Given the description of an element on the screen output the (x, y) to click on. 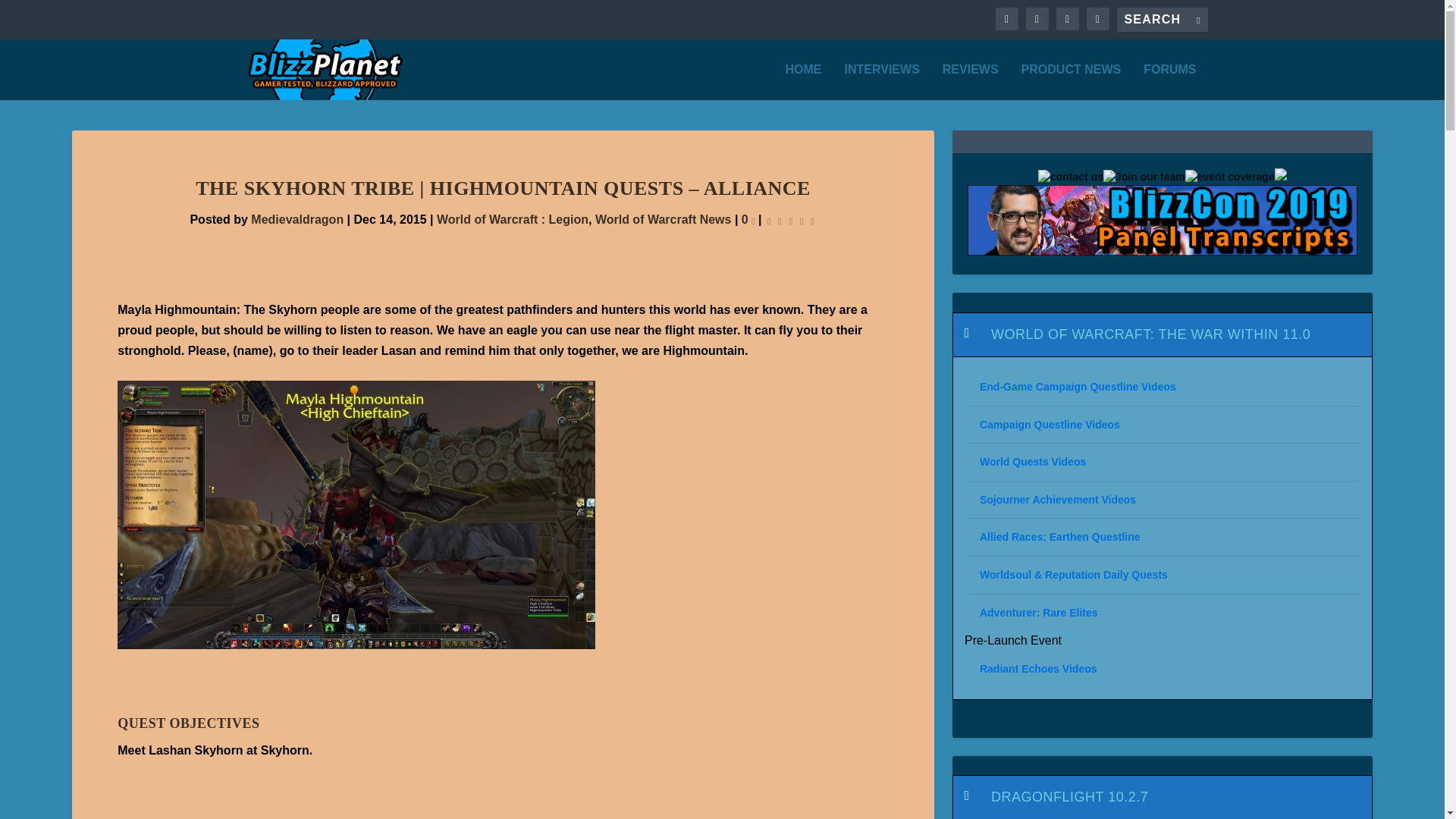
0 (748, 219)
World of Warcraft : Legion (512, 219)
INTERVIEWS (882, 81)
PRODUCT NEWS (1071, 81)
World of Warcraft News (663, 219)
Posts by Medievaldragon (296, 219)
HOME (804, 81)
FORUMS (1168, 81)
Rating: 0.00 (790, 219)
Search for: (1161, 19)
